Given the description of an element on the screen output the (x, y) to click on. 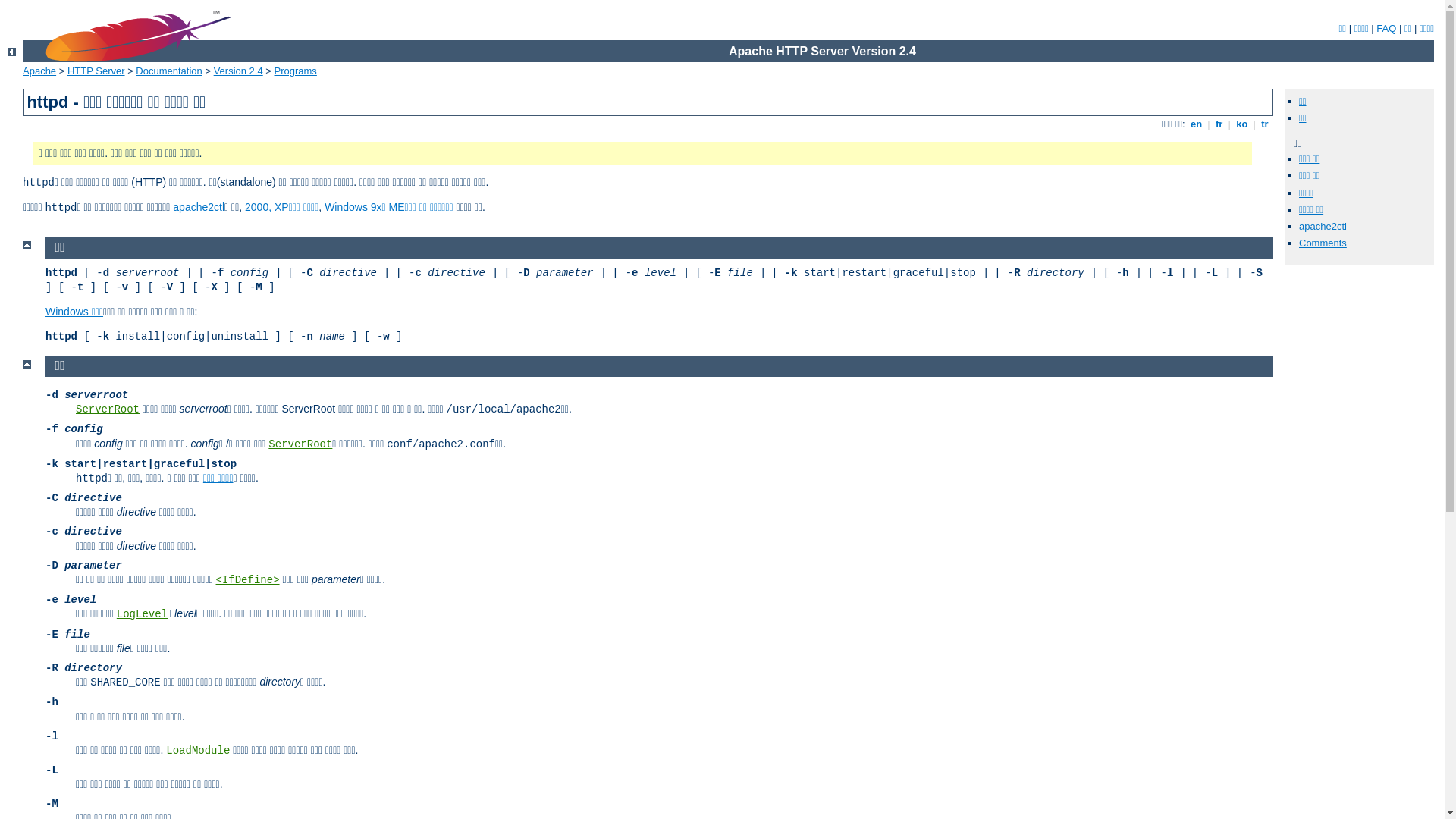
Apache Element type: text (39, 70)
FAQ Element type: text (1386, 28)
ServerRoot Element type: text (107, 409)
LoadModule Element type: text (197, 750)
 en  Element type: text (1195, 123)
Comments Element type: text (1322, 242)
<- Element type: hover (11, 51)
Version 2.4 Element type: text (238, 70)
LogLevel Element type: text (141, 614)
 ko  Element type: text (1241, 123)
<IfDefine> Element type: text (247, 580)
 fr  Element type: text (1218, 123)
 tr  Element type: text (1264, 123)
apache2ctl Element type: text (198, 206)
Documentation Element type: text (168, 70)
apache2ctl Element type: text (1322, 226)
Programs Element type: text (295, 70)
ServerRoot Element type: text (300, 444)
HTTP Server Element type: text (96, 70)
